Given the description of an element on the screen output the (x, y) to click on. 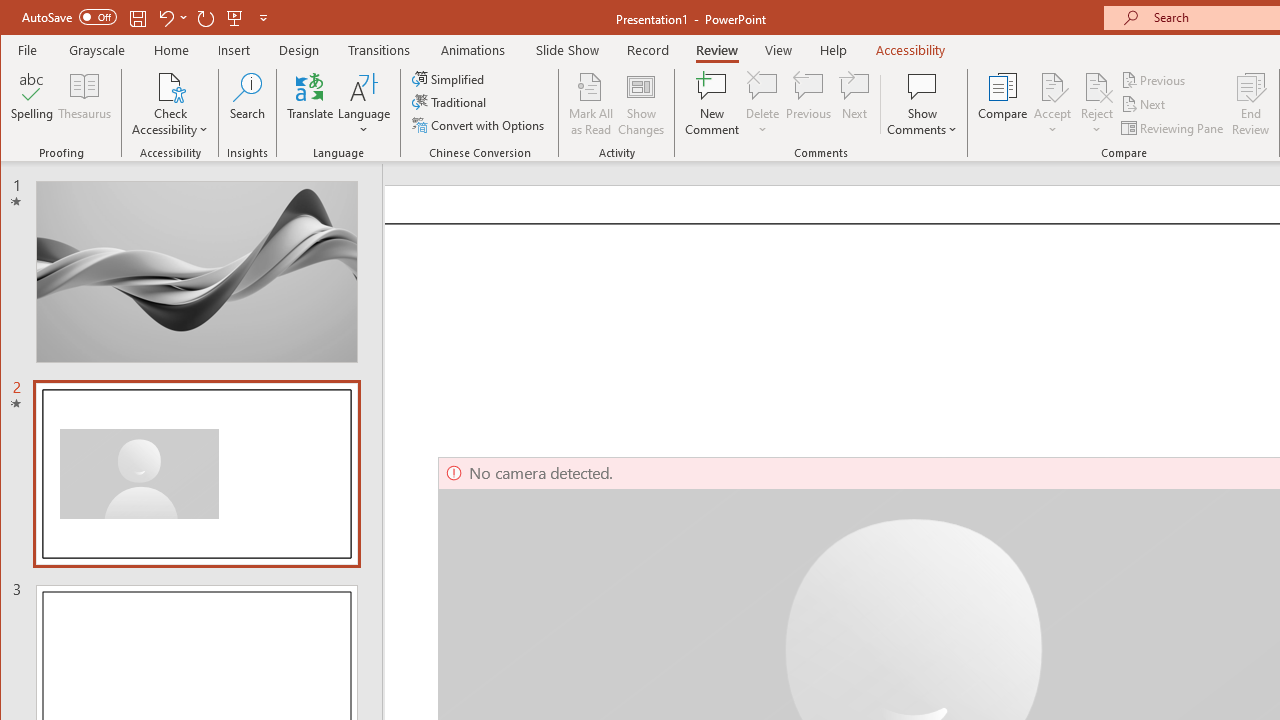
Reviewing Pane (1173, 127)
Reject (1096, 104)
Simplified (450, 78)
